Given the description of an element on the screen output the (x, y) to click on. 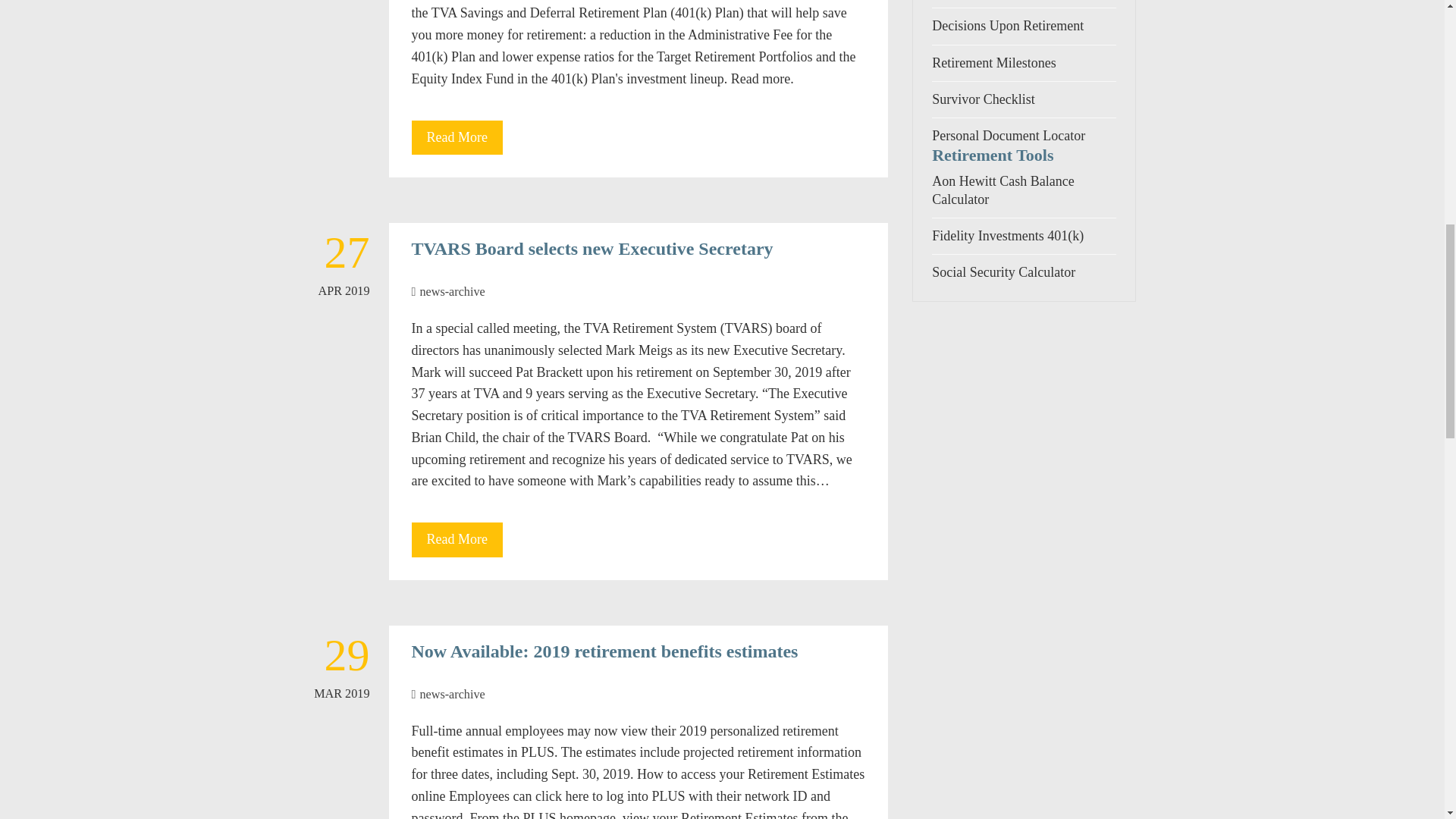
Read More (456, 539)
news-archive (451, 694)
TVARS Board selects new Executive Secretary (591, 248)
Read More (456, 137)
news-archive (451, 291)
Now Available: 2019 retirement benefits estimates (603, 650)
